Given the description of an element on the screen output the (x, y) to click on. 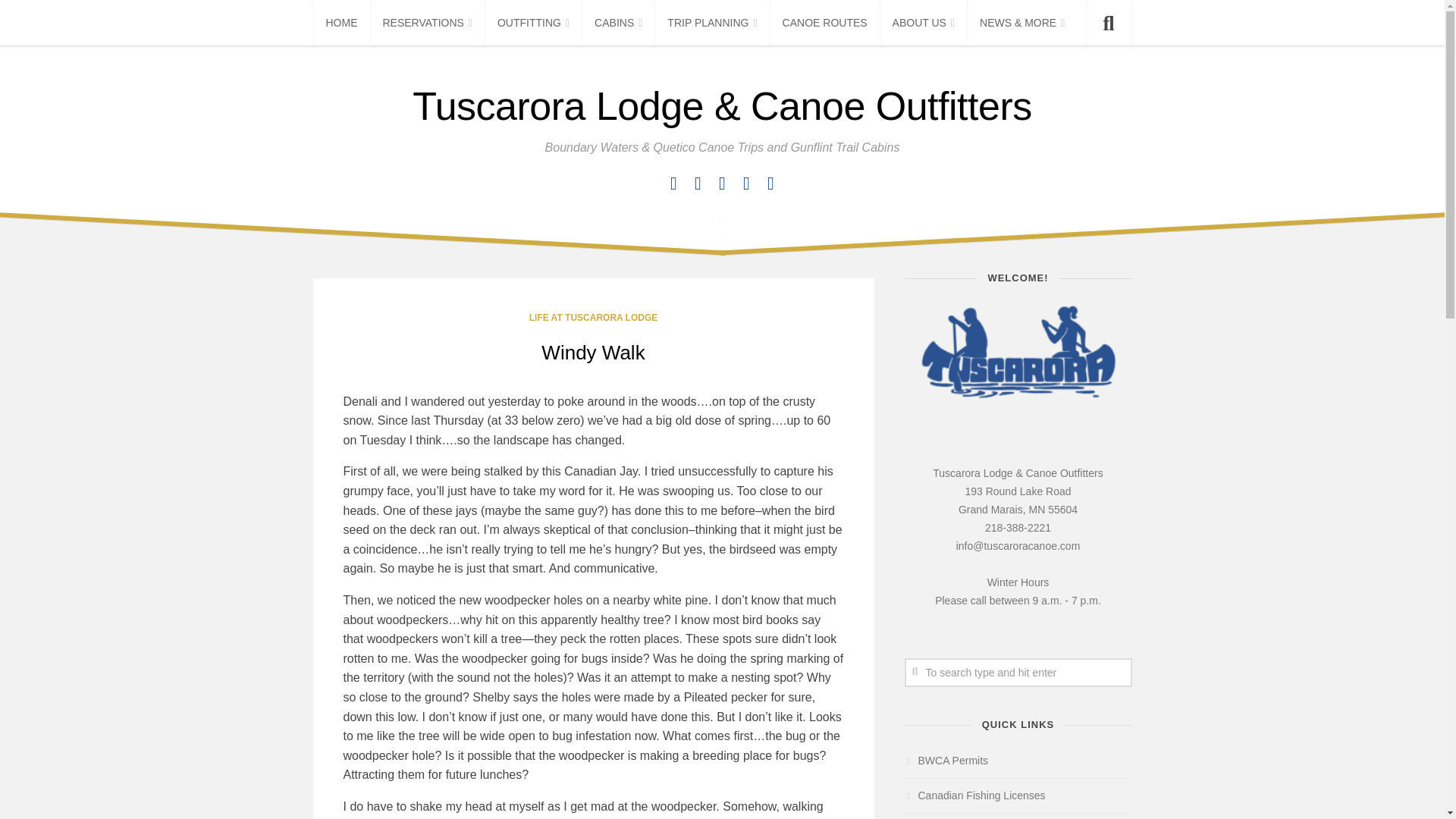
To search type and hit enter (1017, 672)
Instagram (721, 183)
Facebook (672, 183)
Youtube (769, 183)
To search type and hit enter (1017, 672)
Pinterest (745, 183)
Purchase you fishing licenses for Canada  here (974, 795)
Contact Us (697, 183)
